Given the description of an element on the screen output the (x, y) to click on. 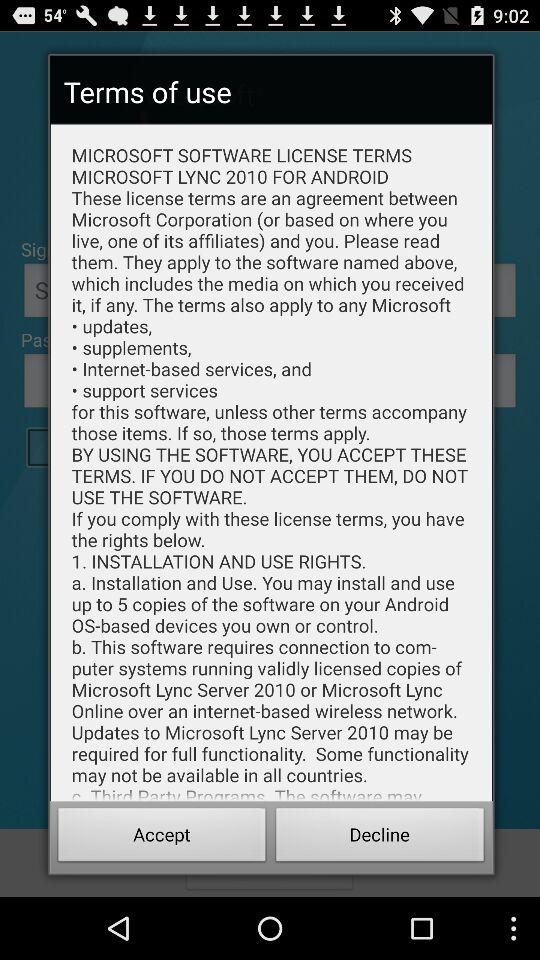
press the icon below the microsoft software license item (380, 837)
